Given the description of an element on the screen output the (x, y) to click on. 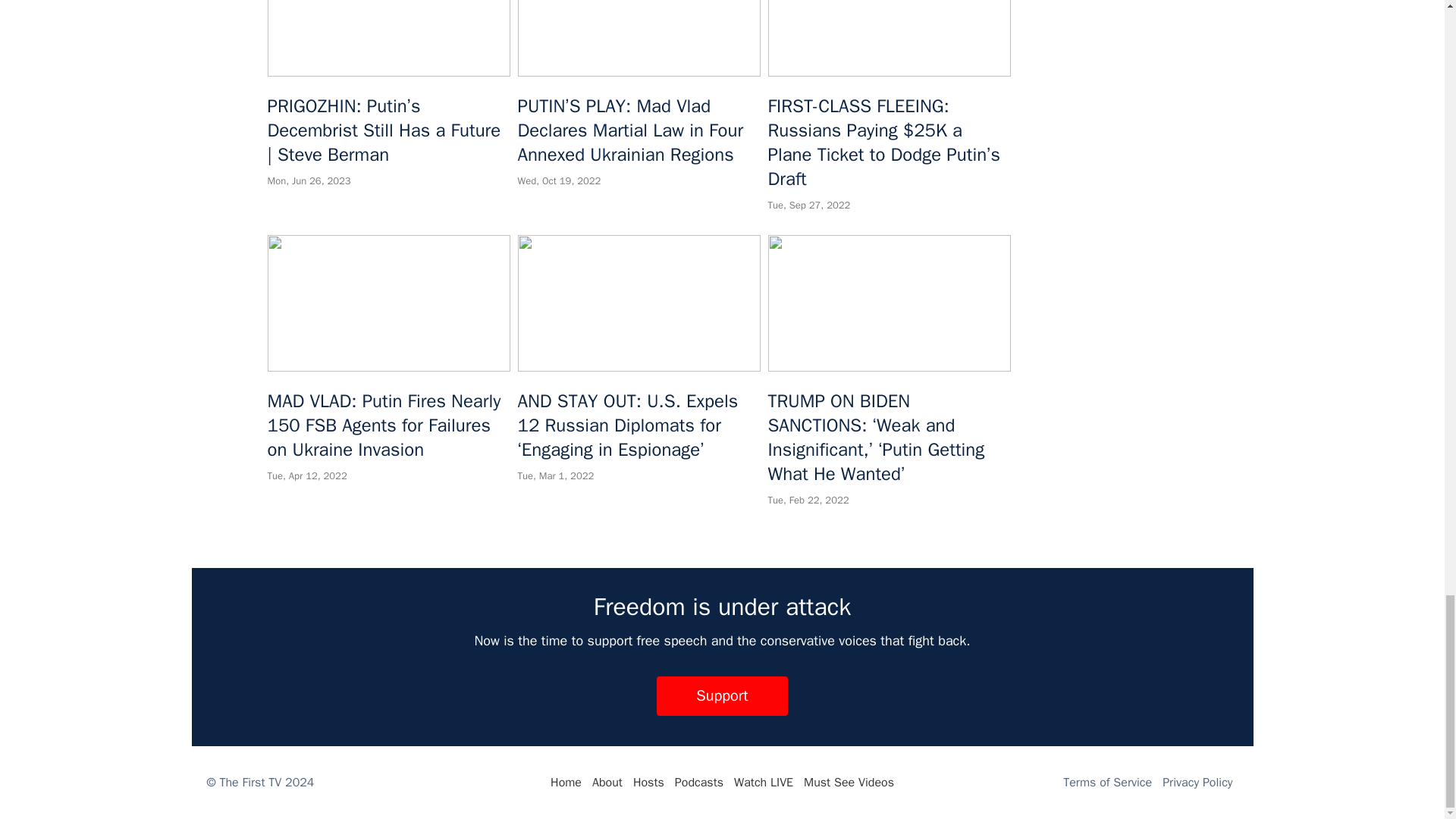
June 26, 2023 (308, 180)
October 19, 2022 (557, 180)
September 27, 2022 (808, 205)
April 12, 2022 (306, 475)
February 22, 2022 (807, 499)
March 1, 2022 (555, 475)
